Given the description of an element on the screen output the (x, y) to click on. 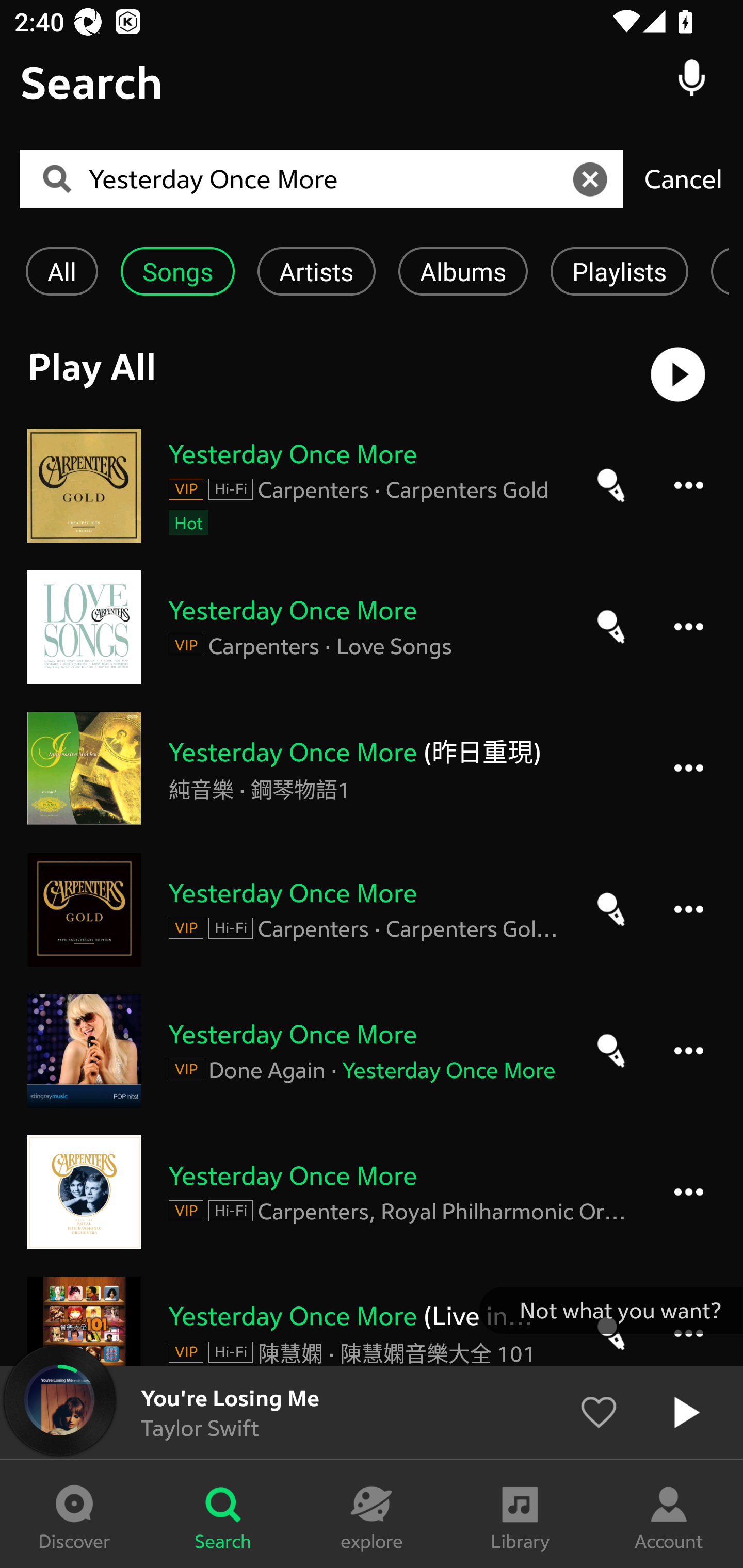
Cancel (683, 178)
Yesterday Once More (327, 179)
All (61, 271)
Artists (316, 271)
Albums (463, 271)
Playlists (619, 271)
Play All (371, 374)
Yesterday Once More VIP Carpenters · Love Songs (371, 626)
Yesterday Once More (昨日重現) 純音樂 · 鋼琴物語1 (371, 767)
You're Losing Me Taylor Swift (371, 1412)
Discover (74, 1513)
explore (371, 1513)
Library (519, 1513)
Account (668, 1513)
